Given the description of an element on the screen output the (x, y) to click on. 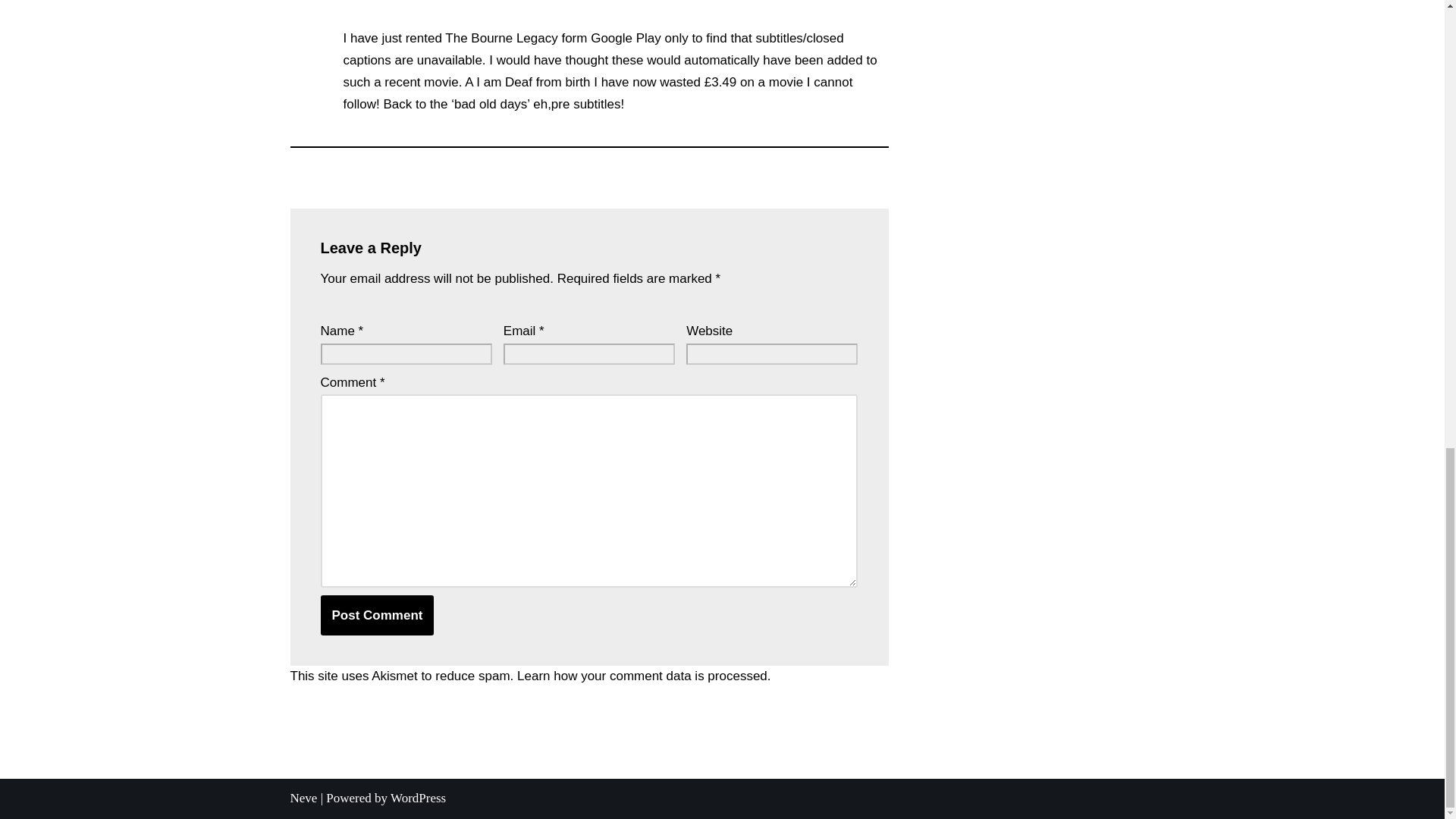
Post Comment (376, 615)
December 6, 2012 at 2:16 pm (419, 2)
Neve (303, 798)
Post Comment (376, 615)
Learn how your comment data is processed (641, 676)
